Given the description of an element on the screen output the (x, y) to click on. 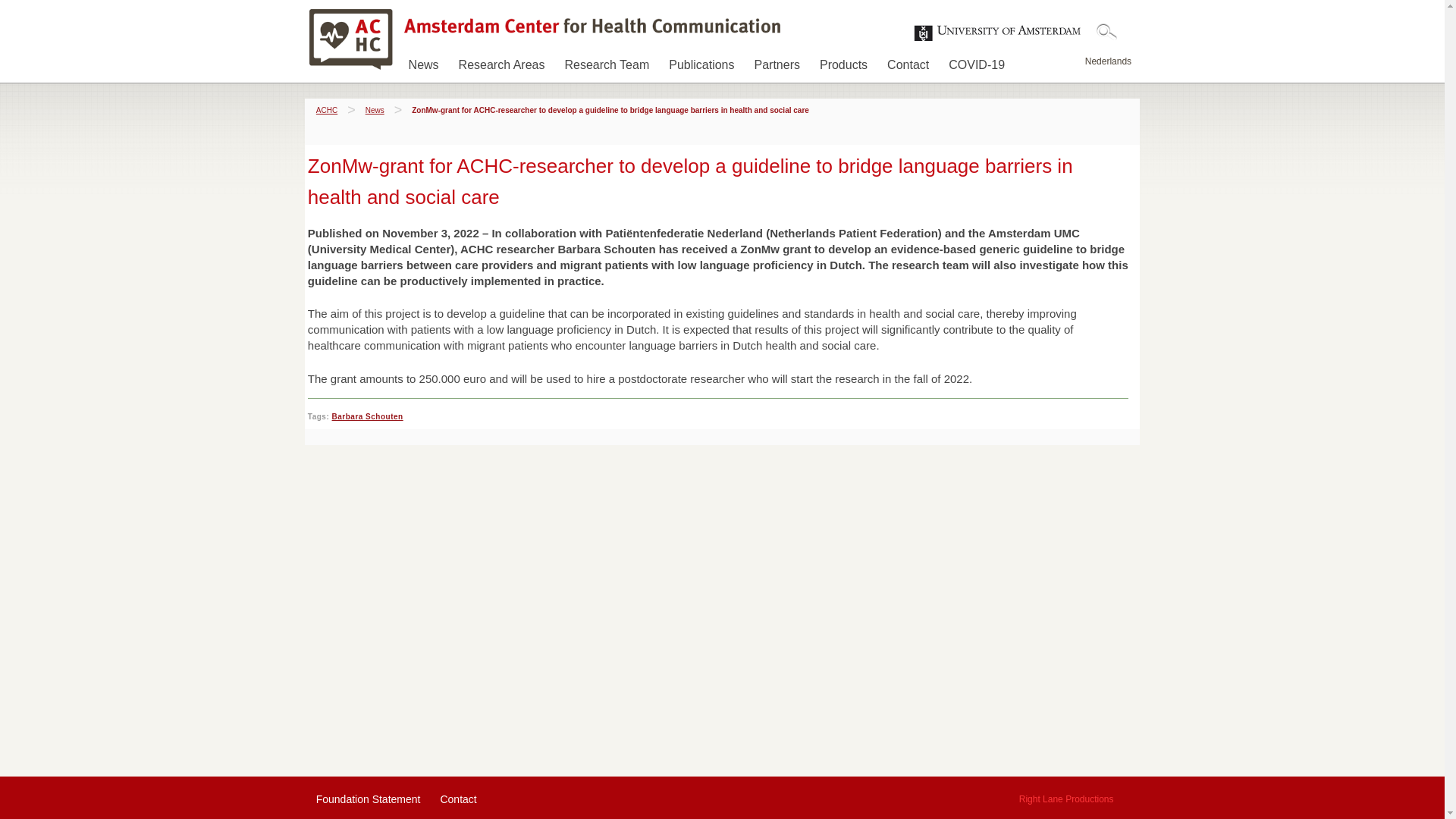
Partners (776, 61)
University of Amsterdam (997, 32)
Products (843, 61)
Nederlands (1107, 61)
Barbara Schouten (367, 416)
News (374, 110)
Publications (700, 61)
Contact (907, 61)
Foundation Statement (367, 799)
COVID-19 (976, 61)
